Given the description of an element on the screen output the (x, y) to click on. 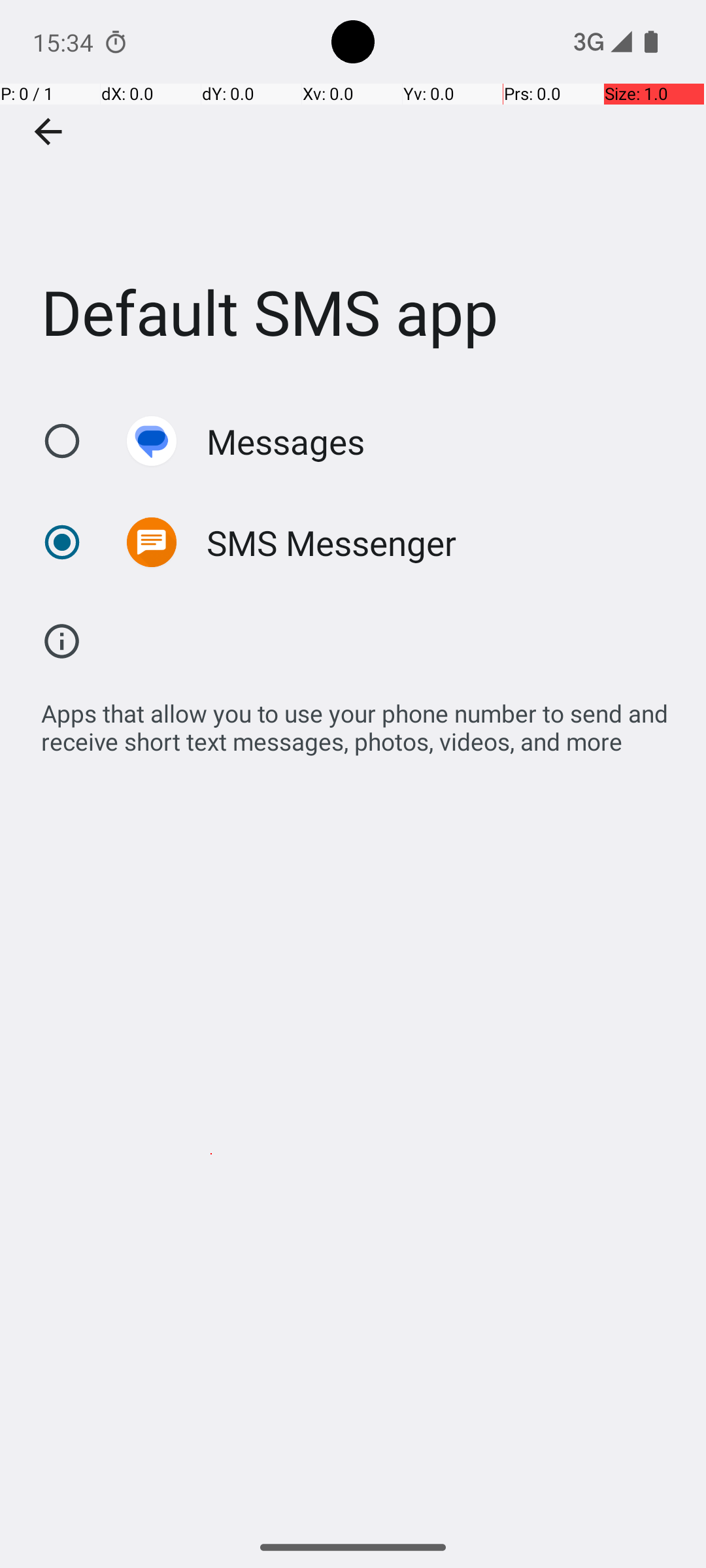
Default SMS app Element type: android.widget.FrameLayout (353, 195)
Apps that allow you to use your phone number to send and receive short text messages, photos, videos, and more Element type: android.widget.TextView (359, 720)
